Given the description of an element on the screen output the (x, y) to click on. 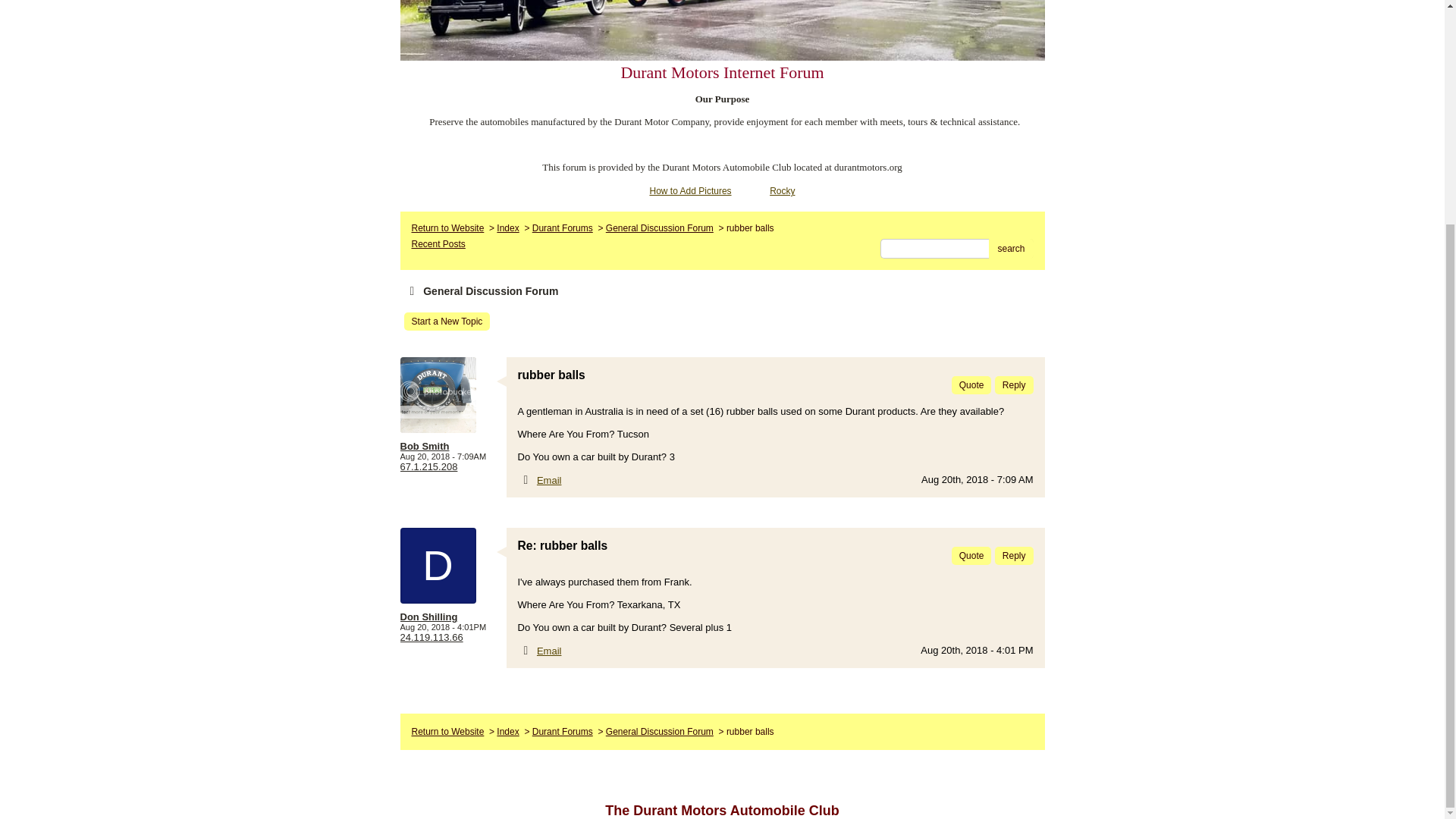
General Discussion Forum (659, 731)
Email (549, 480)
Messages from this User (429, 616)
Don Shilling (449, 616)
search (1010, 248)
Recent Posts (437, 244)
Return to Website (446, 227)
Email (549, 650)
Rocky (782, 190)
How to Add Pictures (689, 190)
Index (507, 731)
General Discussion Forum (659, 227)
Reply (1013, 384)
67.1.215.208 (429, 466)
Messages from this User (424, 446)
